Given the description of an element on the screen output the (x, y) to click on. 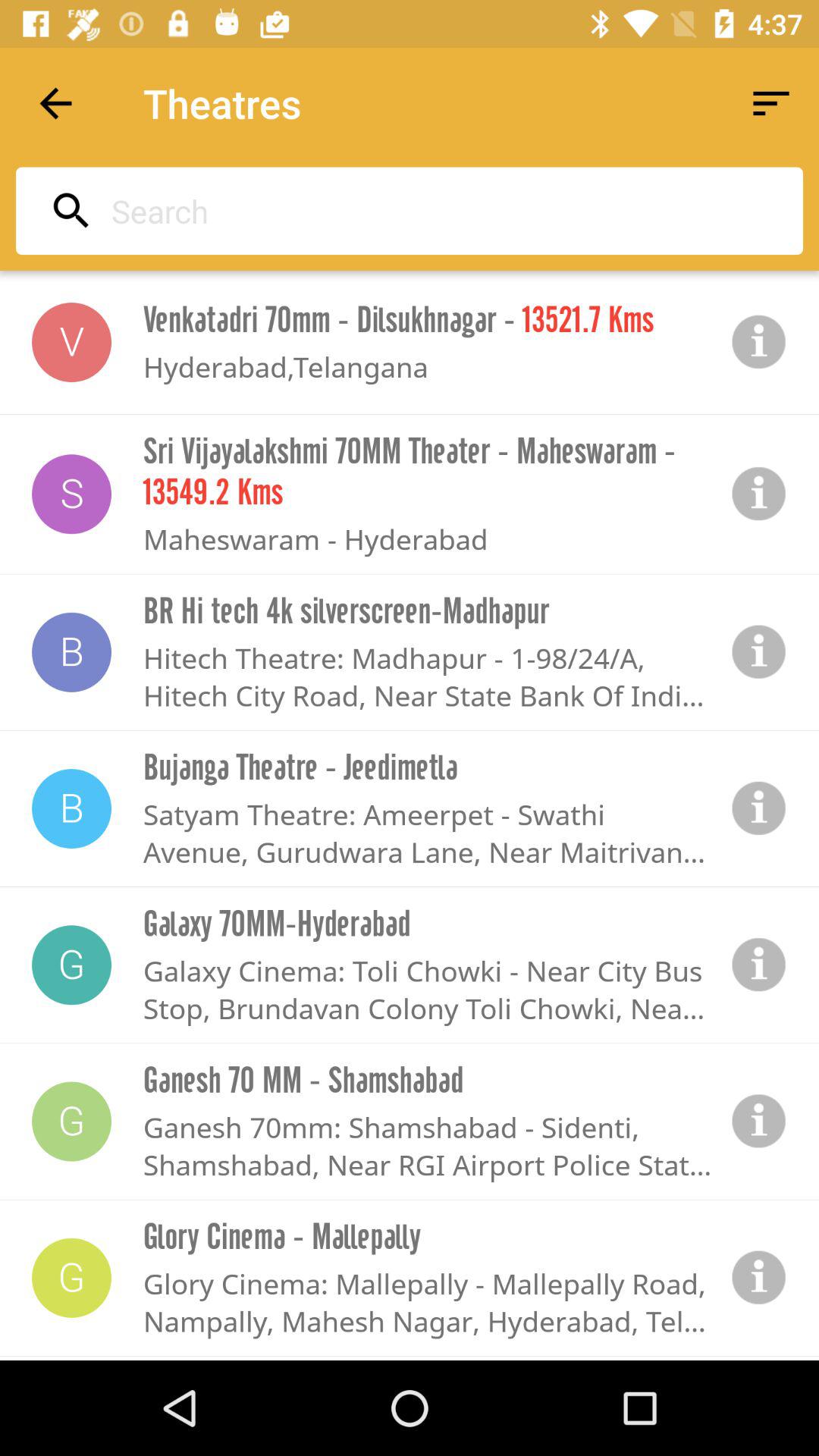
more information about this option (759, 808)
